Given the description of an element on the screen output the (x, y) to click on. 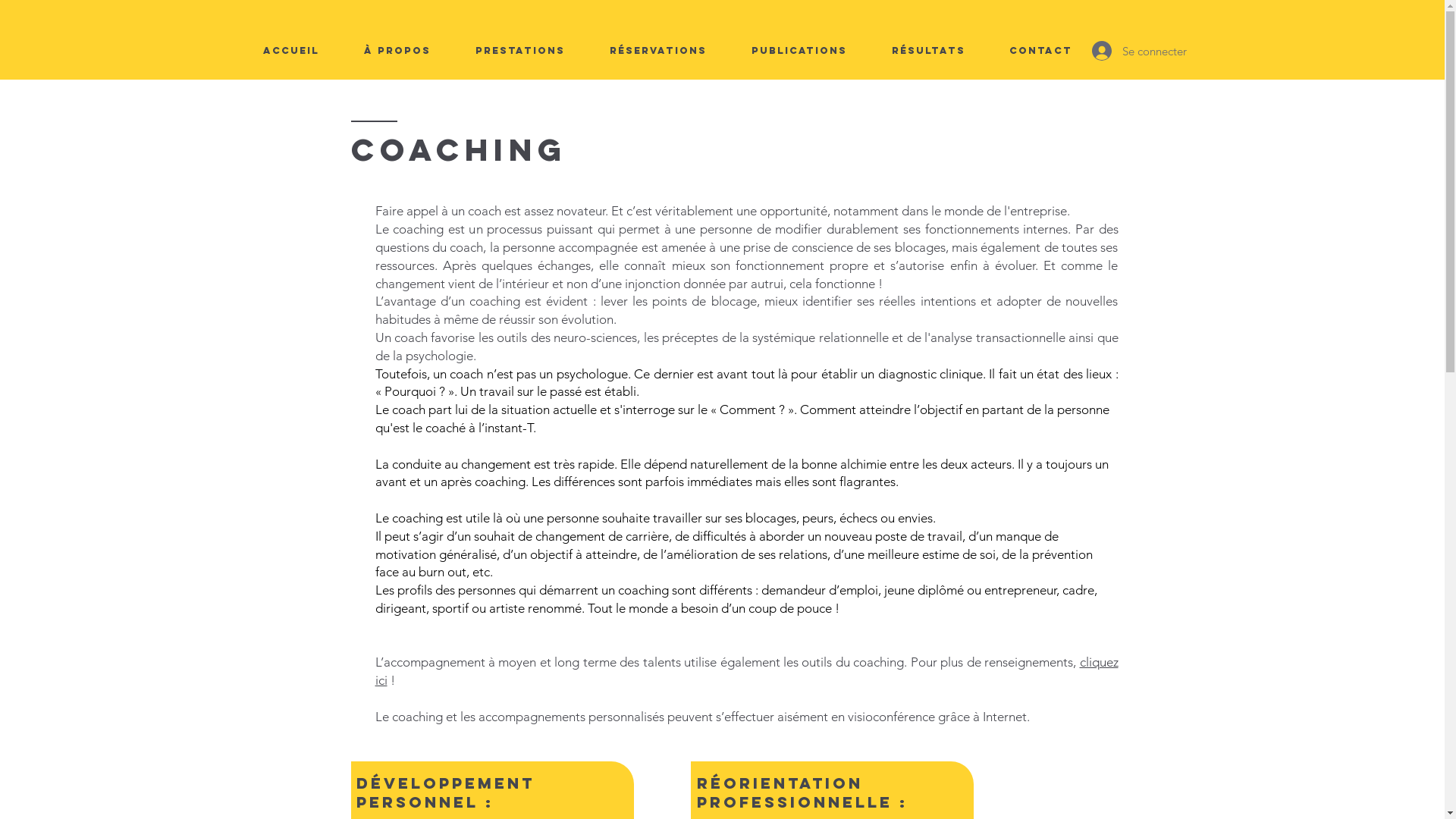
Publications Element type: text (799, 50)
Contact Element type: text (1040, 50)
Accueil Element type: text (291, 50)
Prestations Element type: text (520, 50)
Se connecter Element type: text (1126, 50)
cliquez ici Element type: text (745, 670)
